Given the description of an element on the screen output the (x, y) to click on. 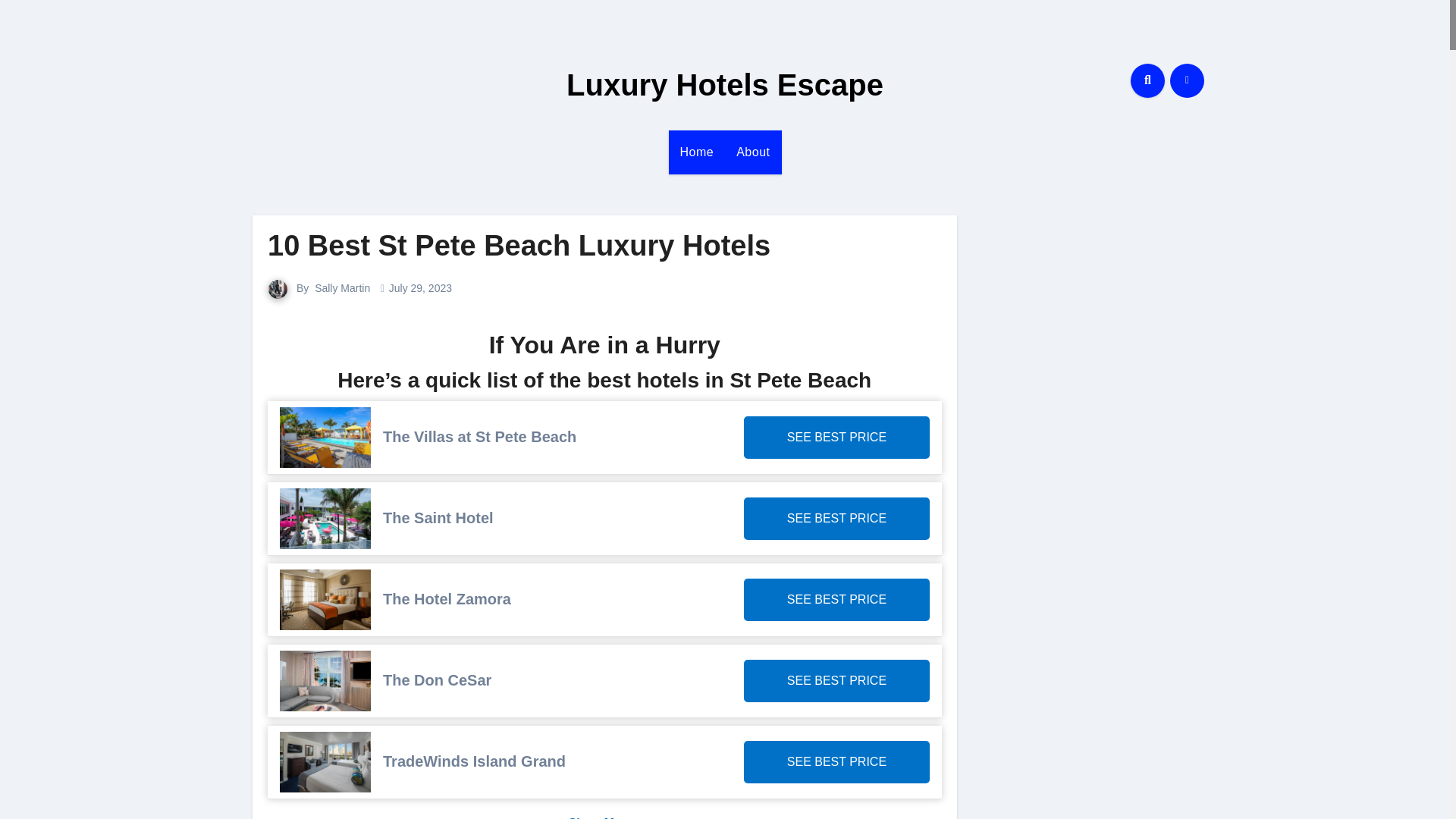
About (752, 152)
Home (696, 152)
10 Best St Pete Beach Luxury Hotels (518, 245)
Home (696, 152)
July 29, 2023 (419, 287)
Sally Martin (341, 287)
Permalink to: 10 Best St Pete Beach Luxury Hotels (518, 245)
Luxury Hotels Escape (724, 84)
